Given the description of an element on the screen output the (x, y) to click on. 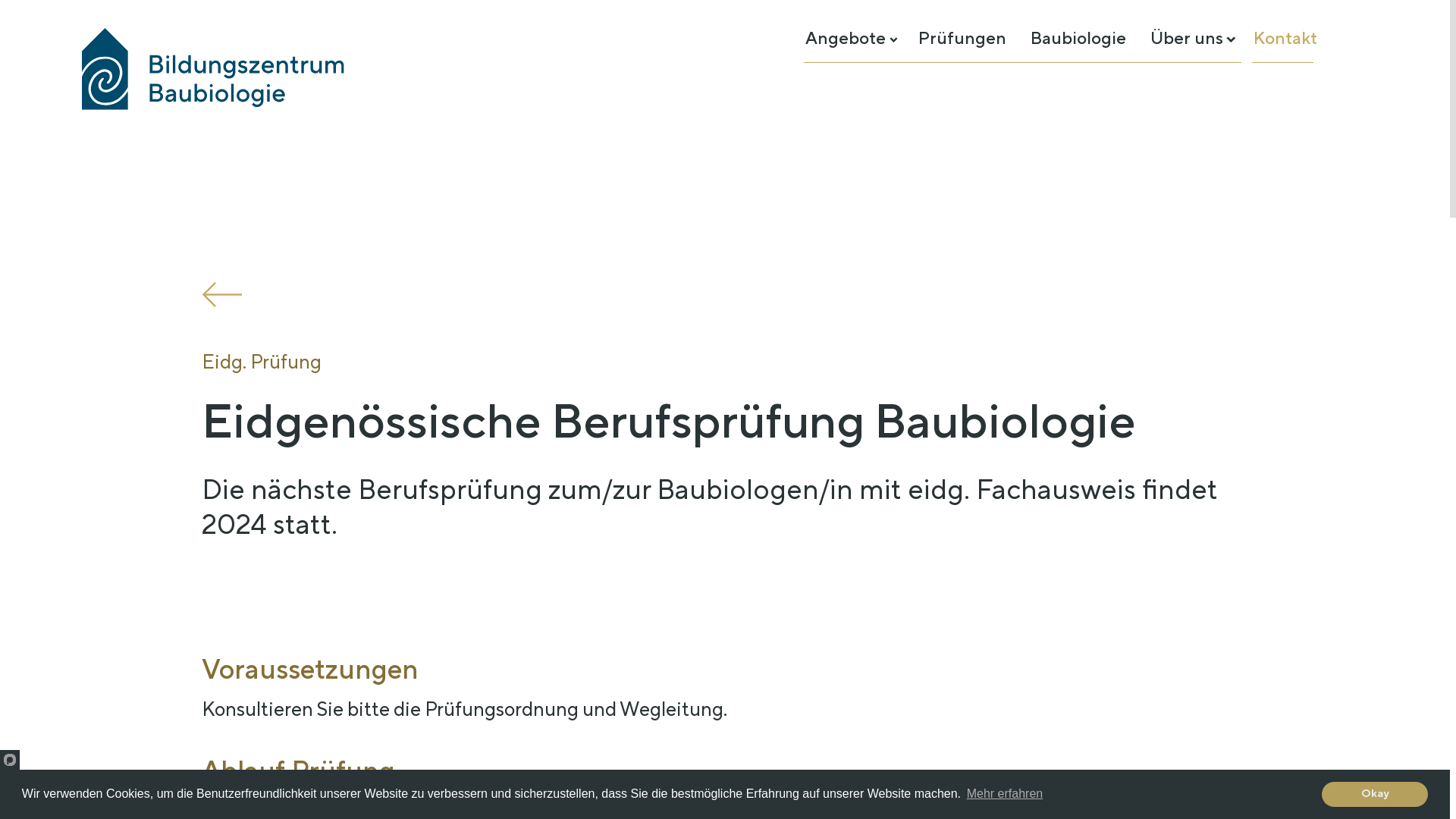
Kontakt Element type: text (1285, 38)
Okay Element type: text (1374, 793)
Mehr erfahren Element type: text (1004, 793)
Angebote Element type: text (845, 38)
Baubiologie Element type: text (1078, 38)
Bildungszentrum Baubiologie Element type: hover (213, 68)
